Given the description of an element on the screen output the (x, y) to click on. 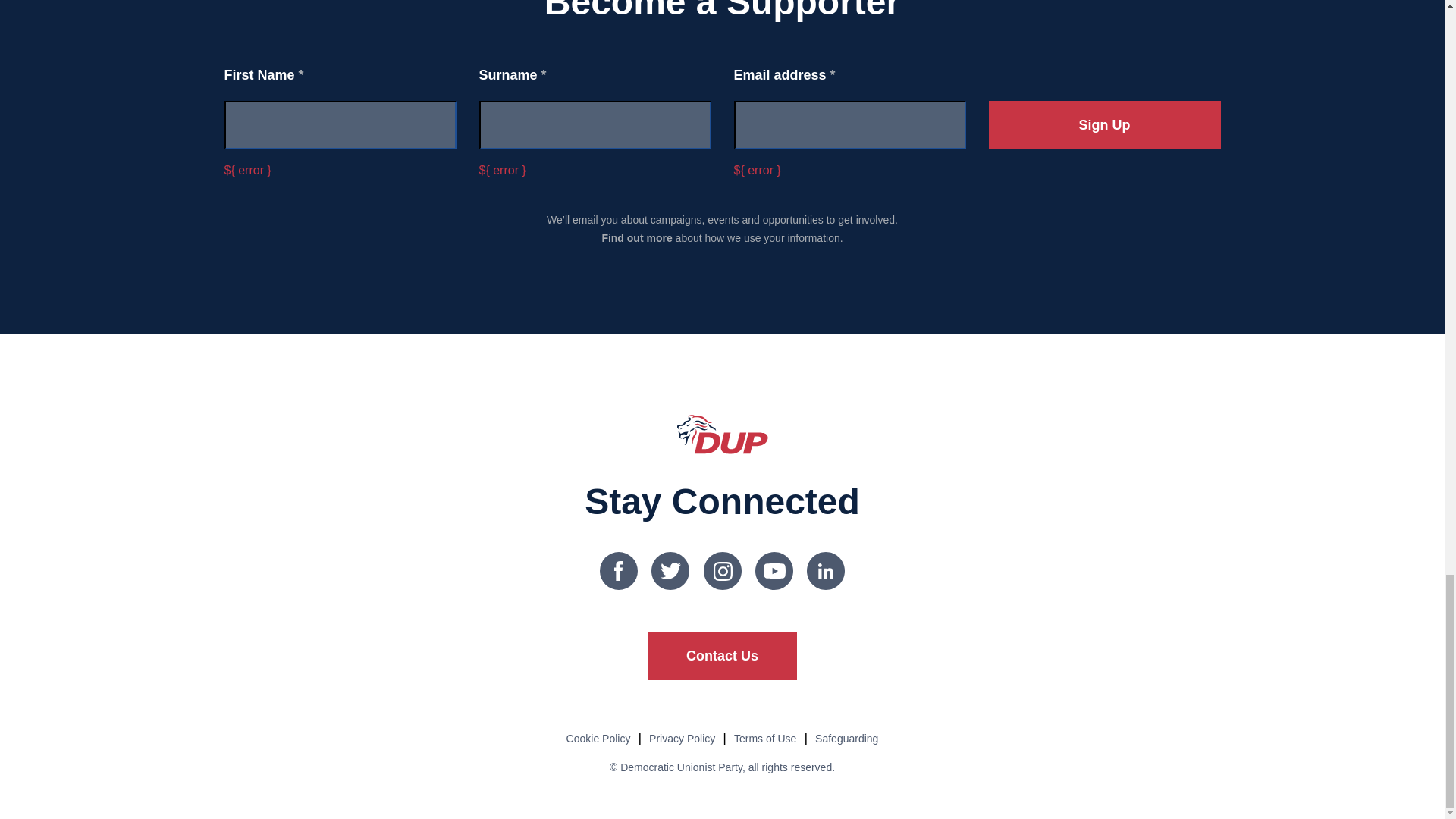
Contact Us (721, 655)
Cookie Policy (598, 738)
Privacy Policy (682, 738)
Find out more (636, 237)
Terms of Use (764, 738)
Sign Up (1104, 124)
Branding (722, 434)
